Given the description of an element on the screen output the (x, y) to click on. 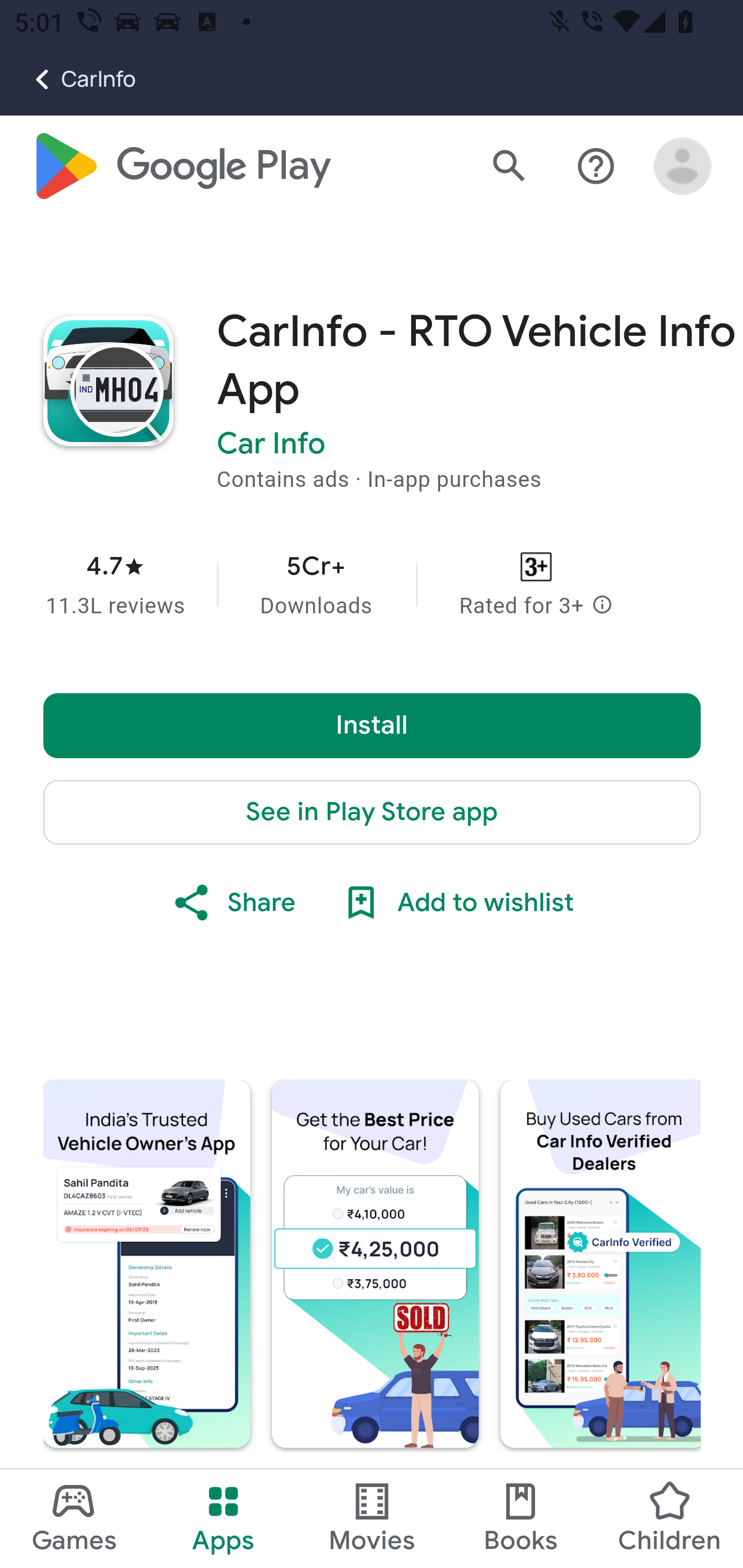
CarInfo (67, 79)
Google Play logo (180, 166)
Search (508, 166)
Help centre (596, 166)
Open account menu (682, 166)
Car Info (271, 445)
More info about this content rating (601, 606)
Install (372, 726)
See in Play Store app (372, 812)
Share (233, 903)
Add to wishlist (455, 903)
Screenshot image (147, 1263)
Screenshot image (375, 1263)
Screenshot image (601, 1263)
Games (74, 1518)
Apps (222, 1518)
Movies (372, 1518)
Books (520, 1518)
Children (668, 1518)
